Given the description of an element on the screen output the (x, y) to click on. 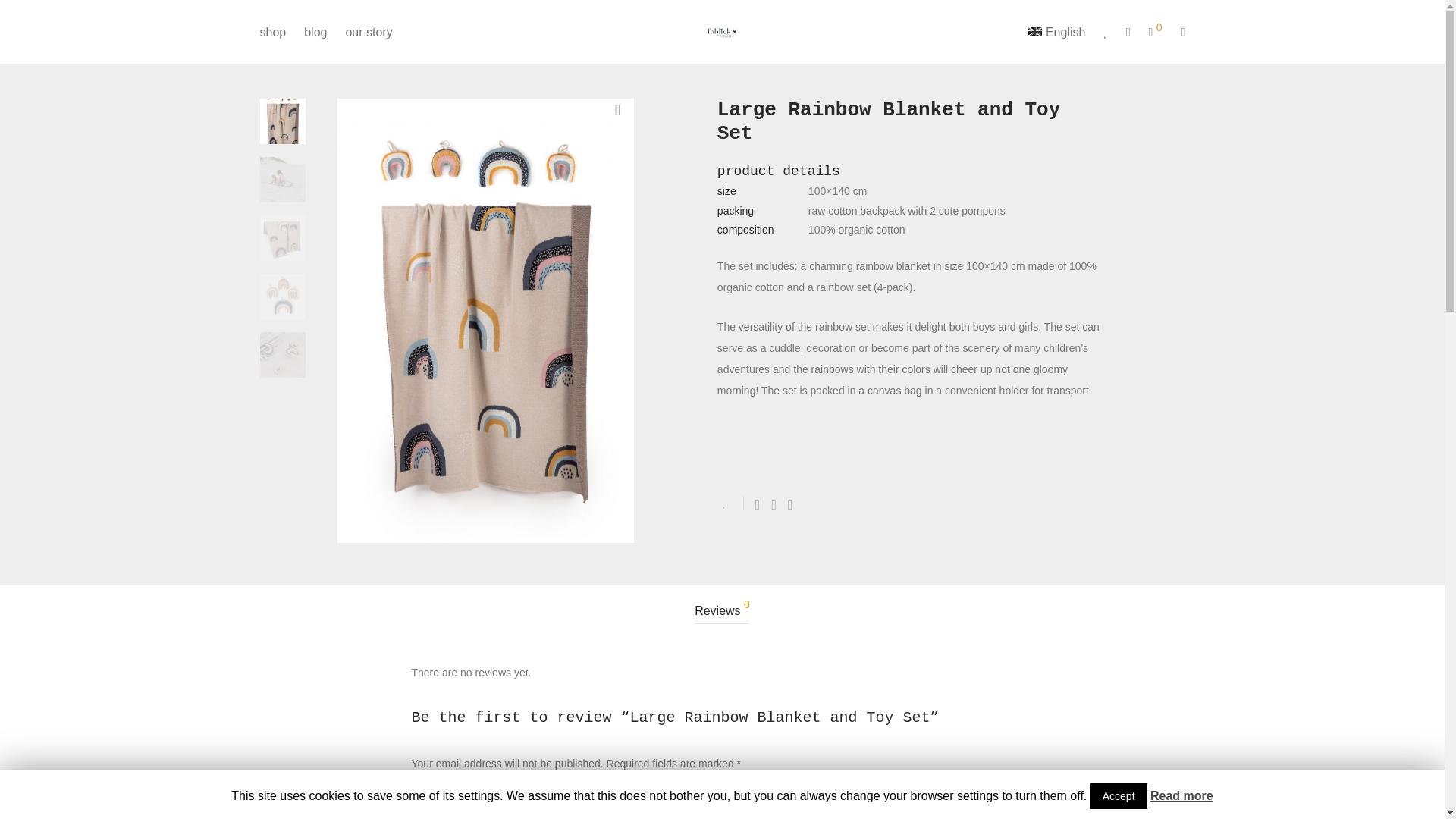
Add to Wishlist (730, 502)
blog (315, 32)
shop (272, 32)
our story (368, 32)
English (1056, 32)
English (1056, 32)
Reviews 0 (721, 611)
